Given the description of an element on the screen output the (x, y) to click on. 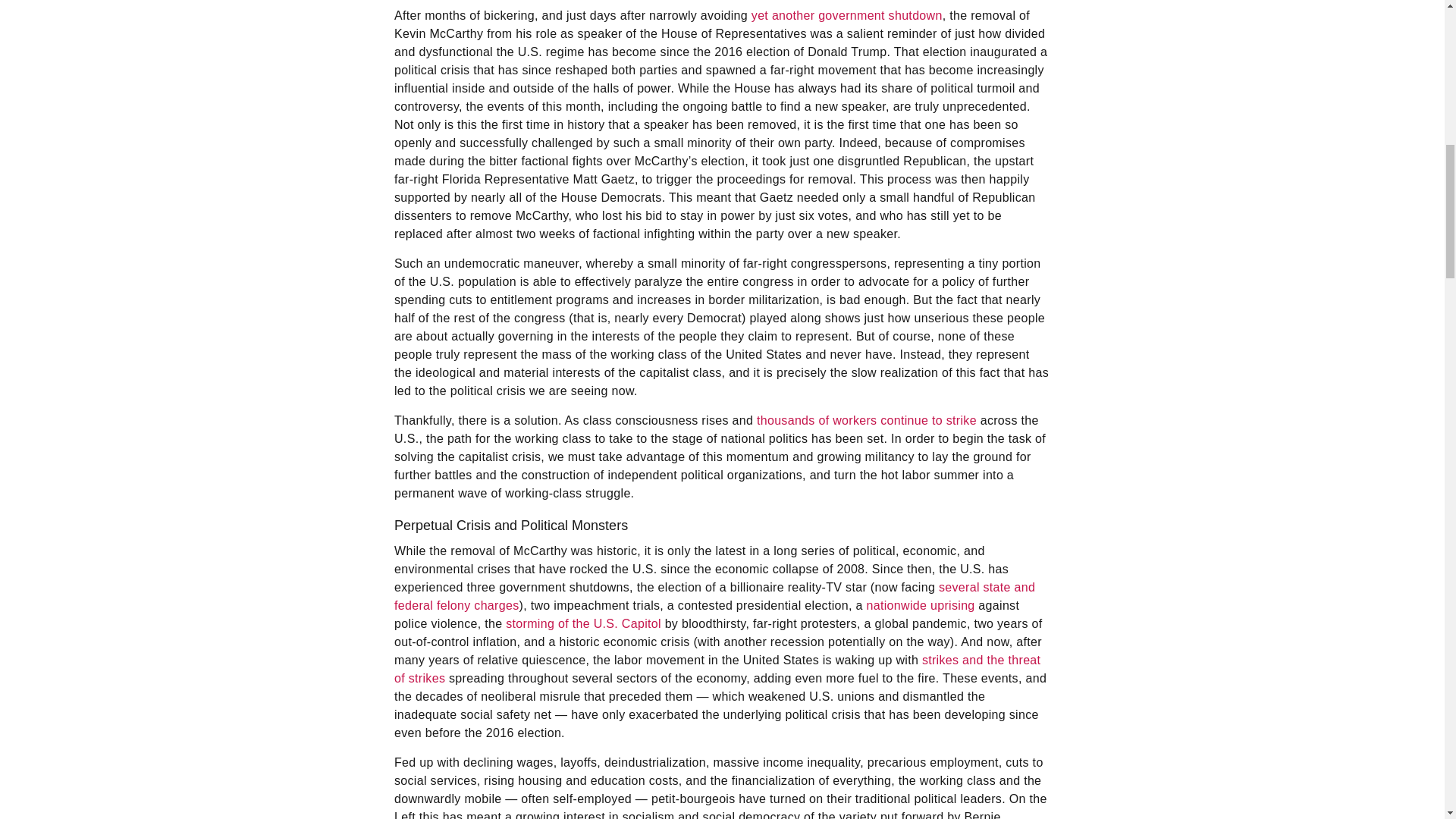
several state and federal felony charges (714, 595)
thousands of workers continue to strike (866, 420)
yet another government shutdown (846, 15)
nationwide uprising (920, 604)
